Given the description of an element on the screen output the (x, y) to click on. 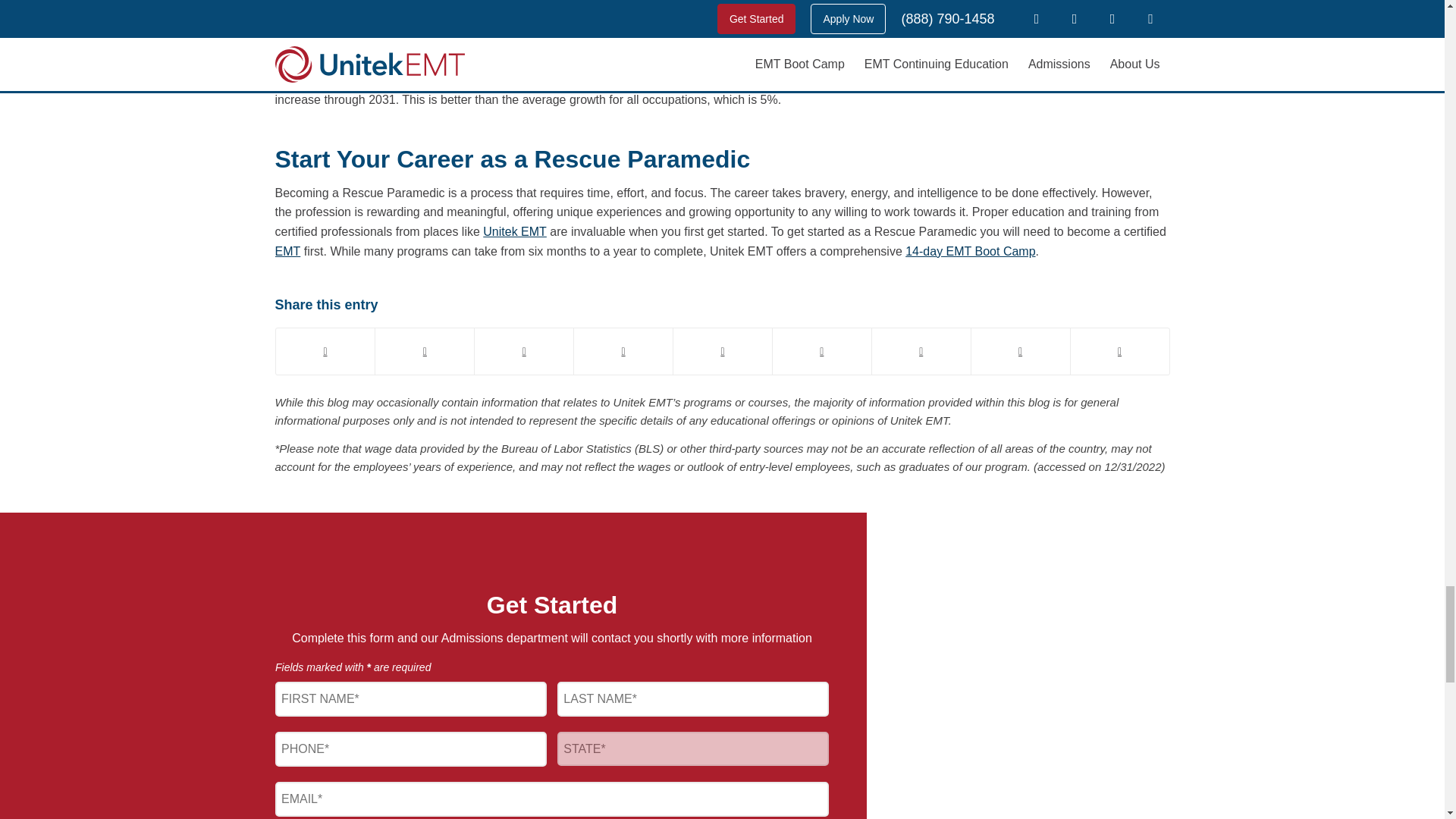
14-day EMT Boot Camp (970, 250)
BLS (908, 80)
Unitek EMT (515, 231)
EMT (287, 250)
